Given the description of an element on the screen output the (x, y) to click on. 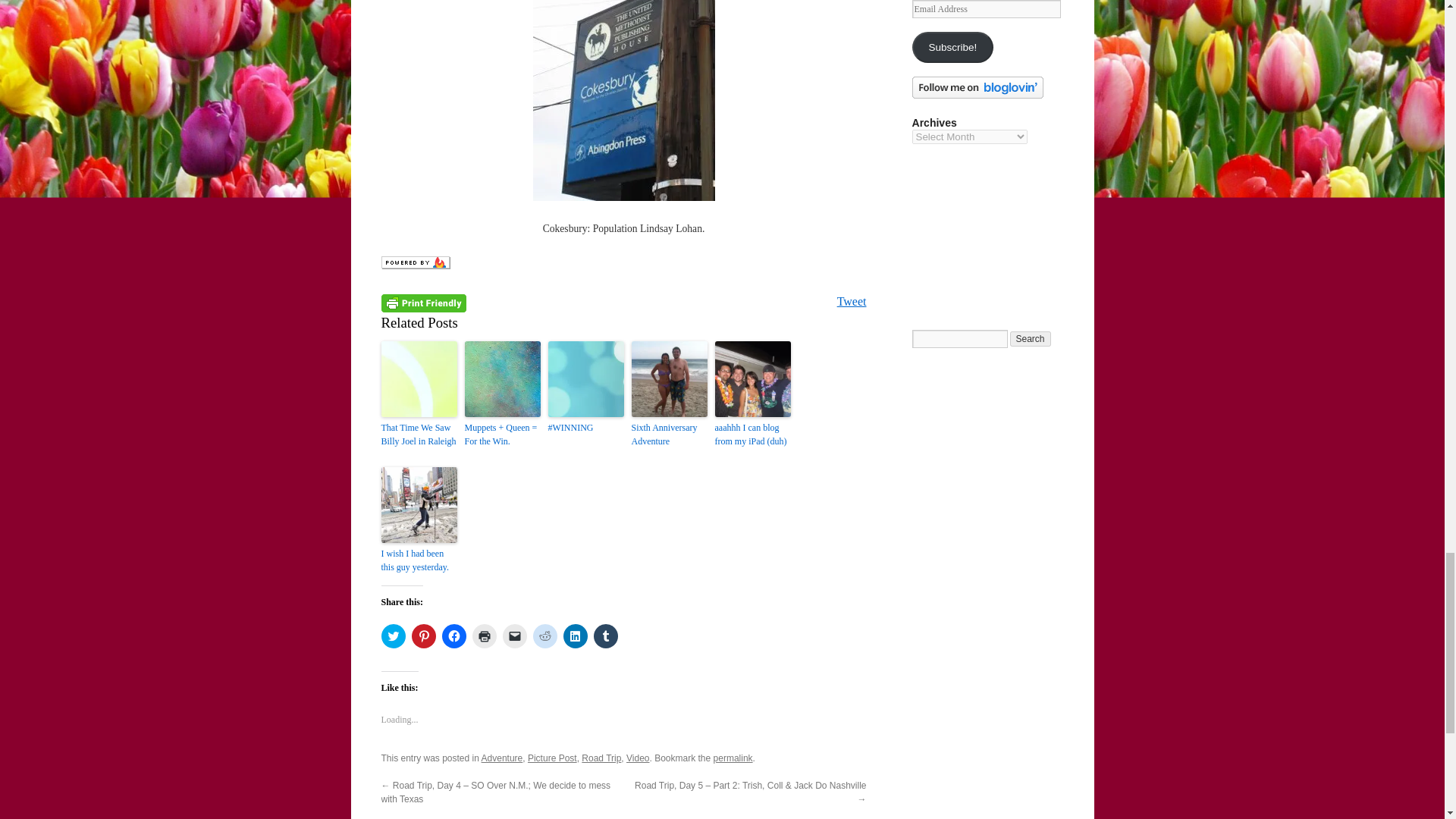
Tweet (851, 300)
Click to share on Tumblr (604, 636)
That Time We Saw Billy Joel in Raleigh (418, 433)
Sixth Anniversary Adventure (668, 433)
Road Trip (600, 757)
Click to print (483, 636)
Picture Post (551, 757)
Click to share on Facebook (453, 636)
Click to share on Twitter (392, 636)
Search (1030, 338)
